Given the description of an element on the screen output the (x, y) to click on. 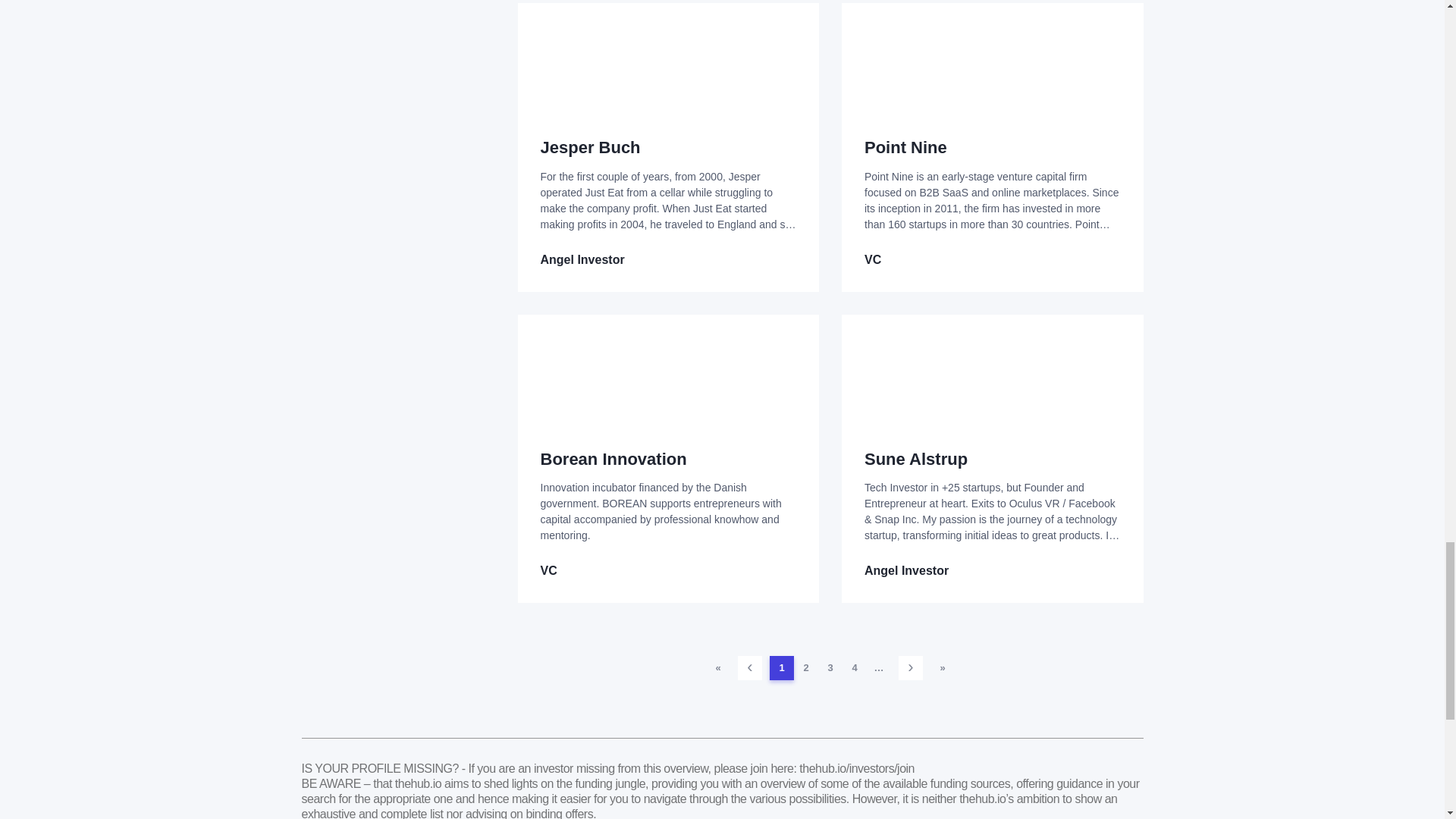
1 (781, 668)
2 (805, 668)
4 (854, 668)
3 (830, 668)
